Given the description of an element on the screen output the (x, y) to click on. 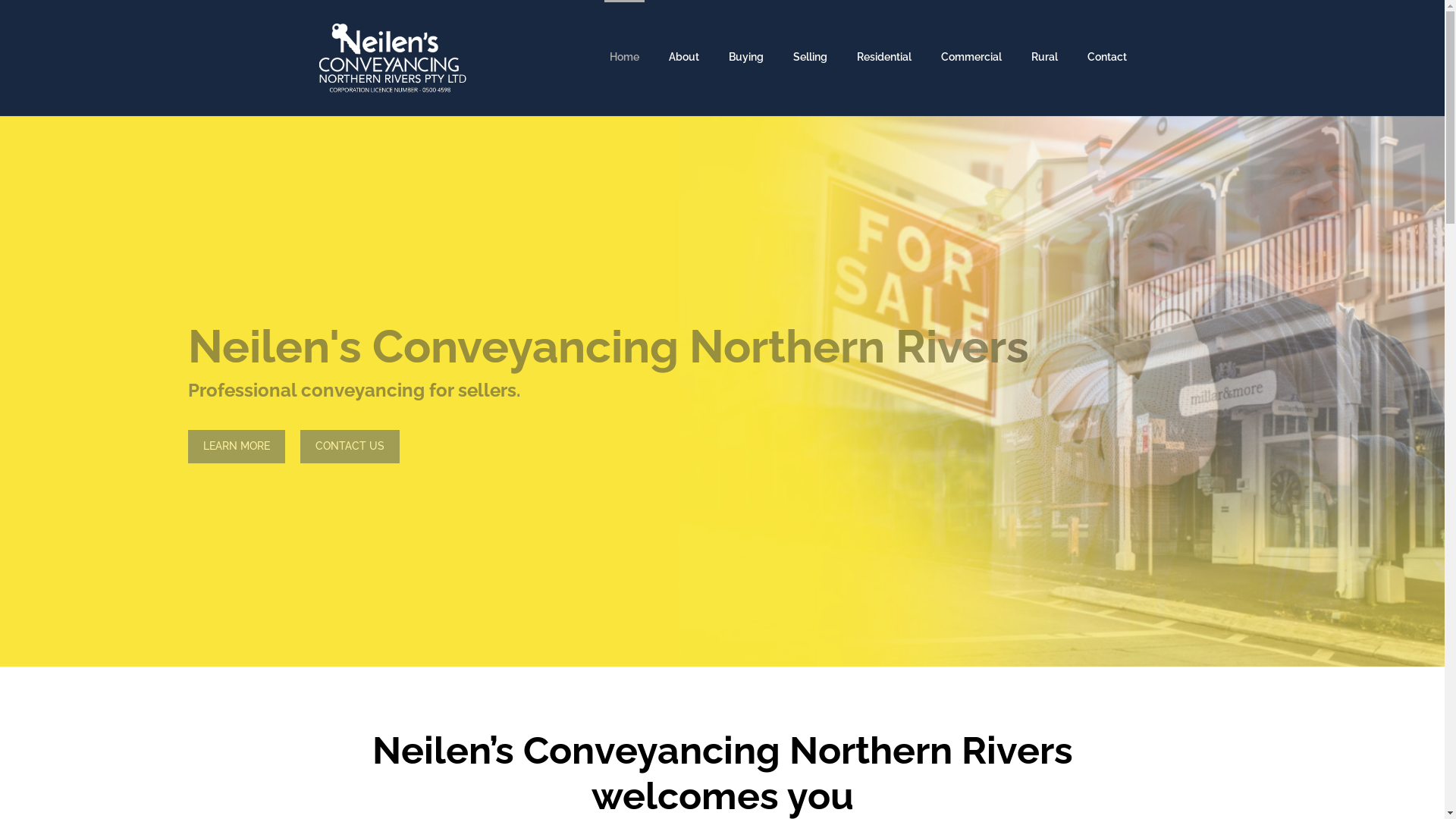
Selling Element type: text (809, 69)
Residential Element type: text (883, 69)
Buying Element type: text (745, 69)
Rural Element type: text (1043, 69)
Commercial Element type: text (971, 69)
About Element type: text (682, 69)
Contact Element type: text (1106, 69)
LEARN MORE Element type: text (236, 446)
Home Element type: text (623, 43)
CONTACT US Element type: text (349, 446)
